Given the description of an element on the screen output the (x, y) to click on. 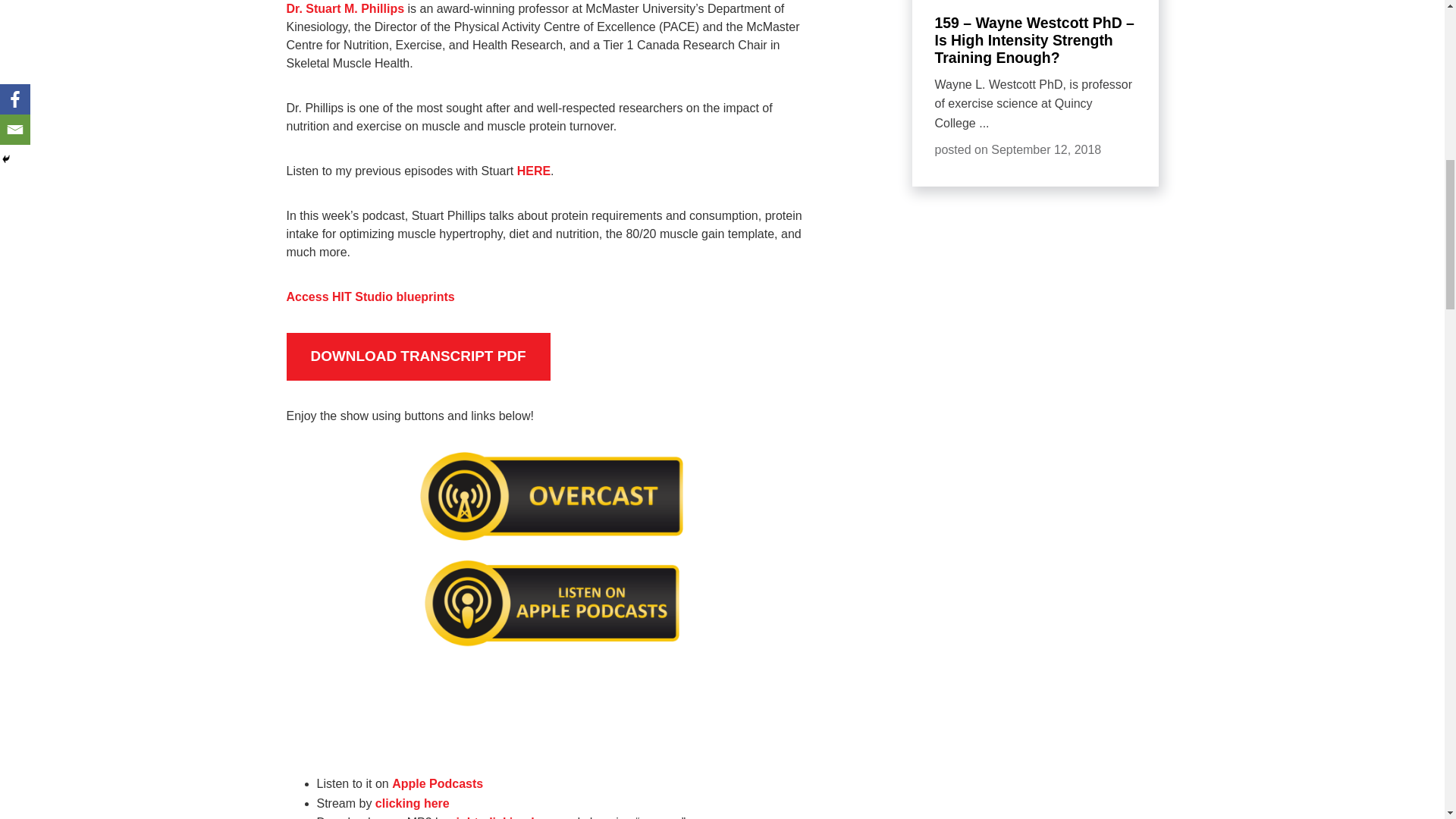
Access HIT Studio blueprints (370, 296)
HERE (533, 170)
Dr. Stuart M. Phillips (345, 8)
clicking here (412, 802)
Apple Podcasts (437, 783)
DOWNLOAD TRANSCRIPT PDF (418, 356)
right-clicking here (503, 817)
